Given the description of an element on the screen output the (x, y) to click on. 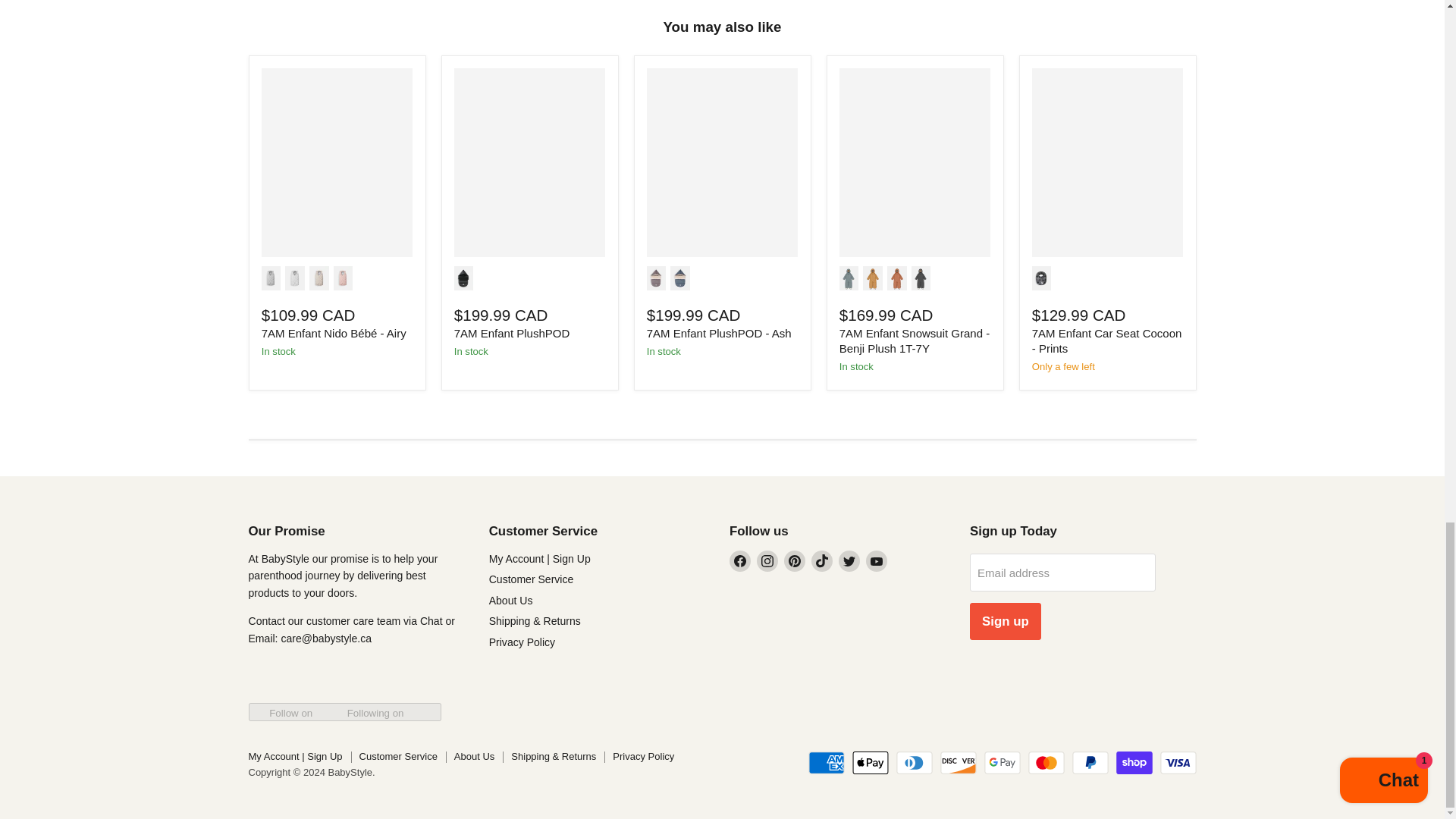
Instagram (767, 560)
Facebook (740, 560)
YouTube (876, 560)
American Express (826, 762)
TikTok (821, 560)
Twitter (849, 560)
Pinterest (794, 560)
